Given the description of an element on the screen output the (x, y) to click on. 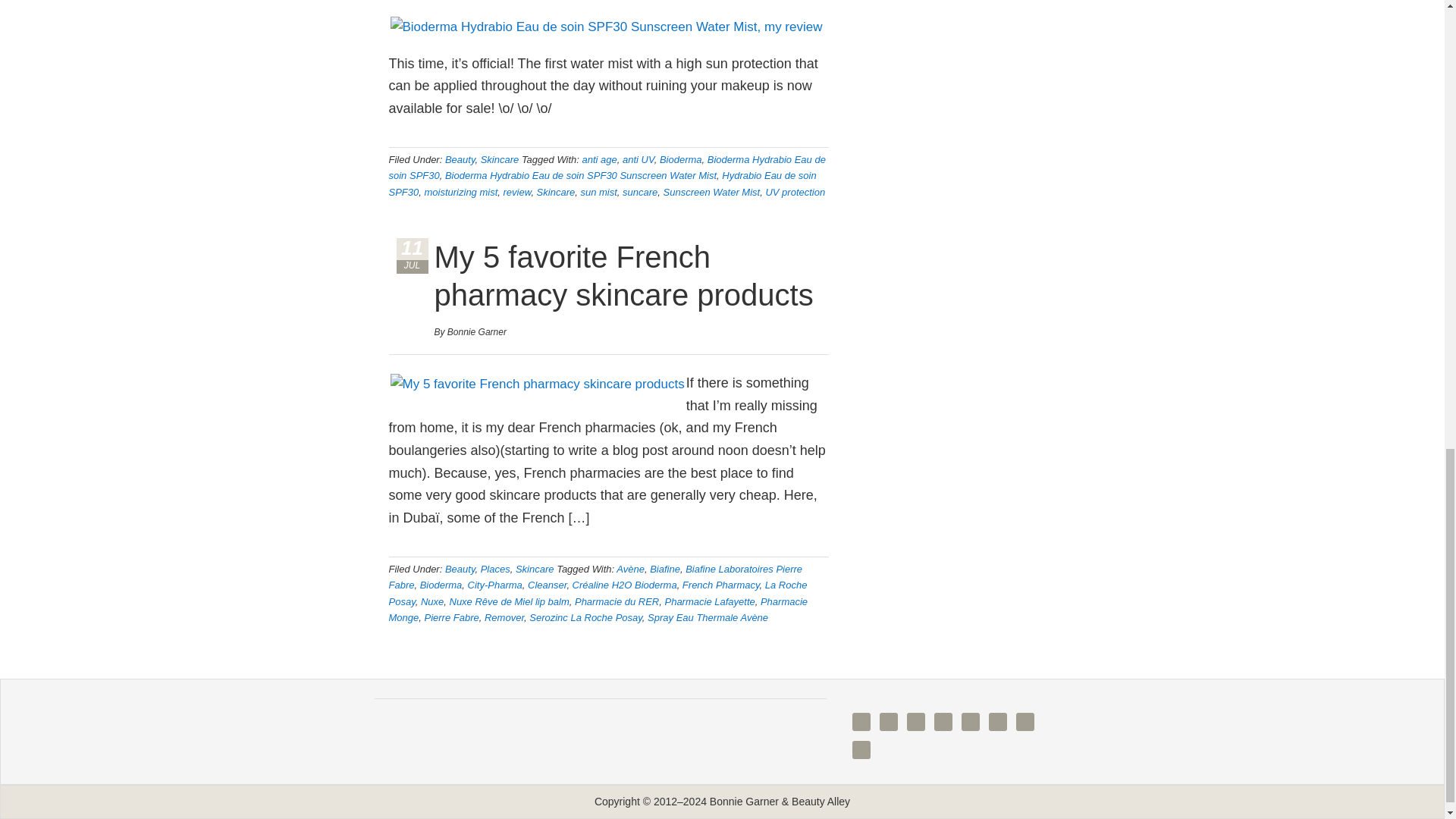
11-Jul-2014 (412, 255)
